Given the description of an element on the screen output the (x, y) to click on. 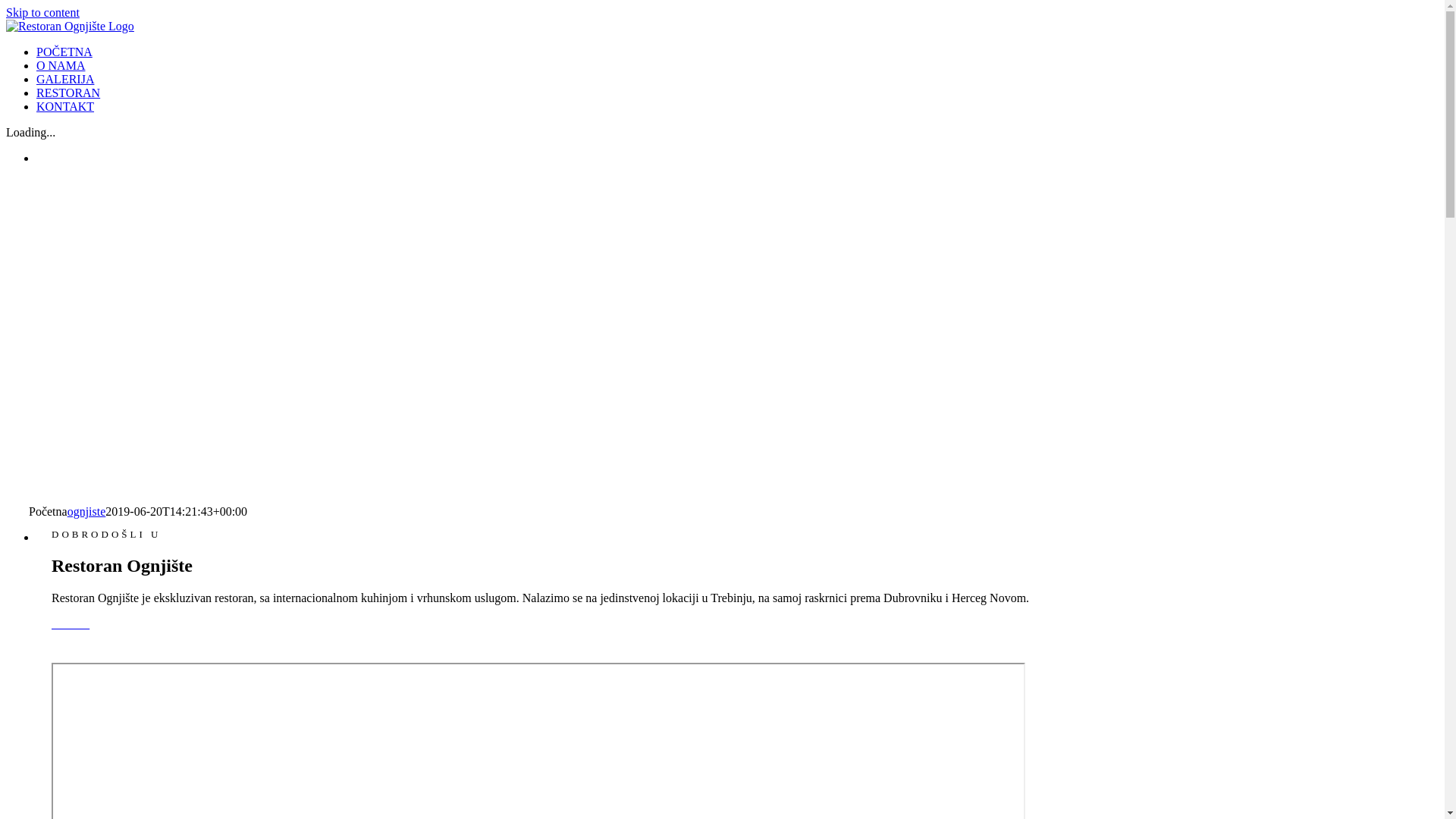
GALERIJA Element type: text (65, 78)
KONTAKT Element type: text (65, 106)
RESTORAN Element type: text (68, 92)
O nama Element type: text (70, 623)
Skip to content Element type: text (42, 12)
O NAMA Element type: text (60, 65)
ognjiste Element type: text (86, 511)
